Given the description of an element on the screen output the (x, y) to click on. 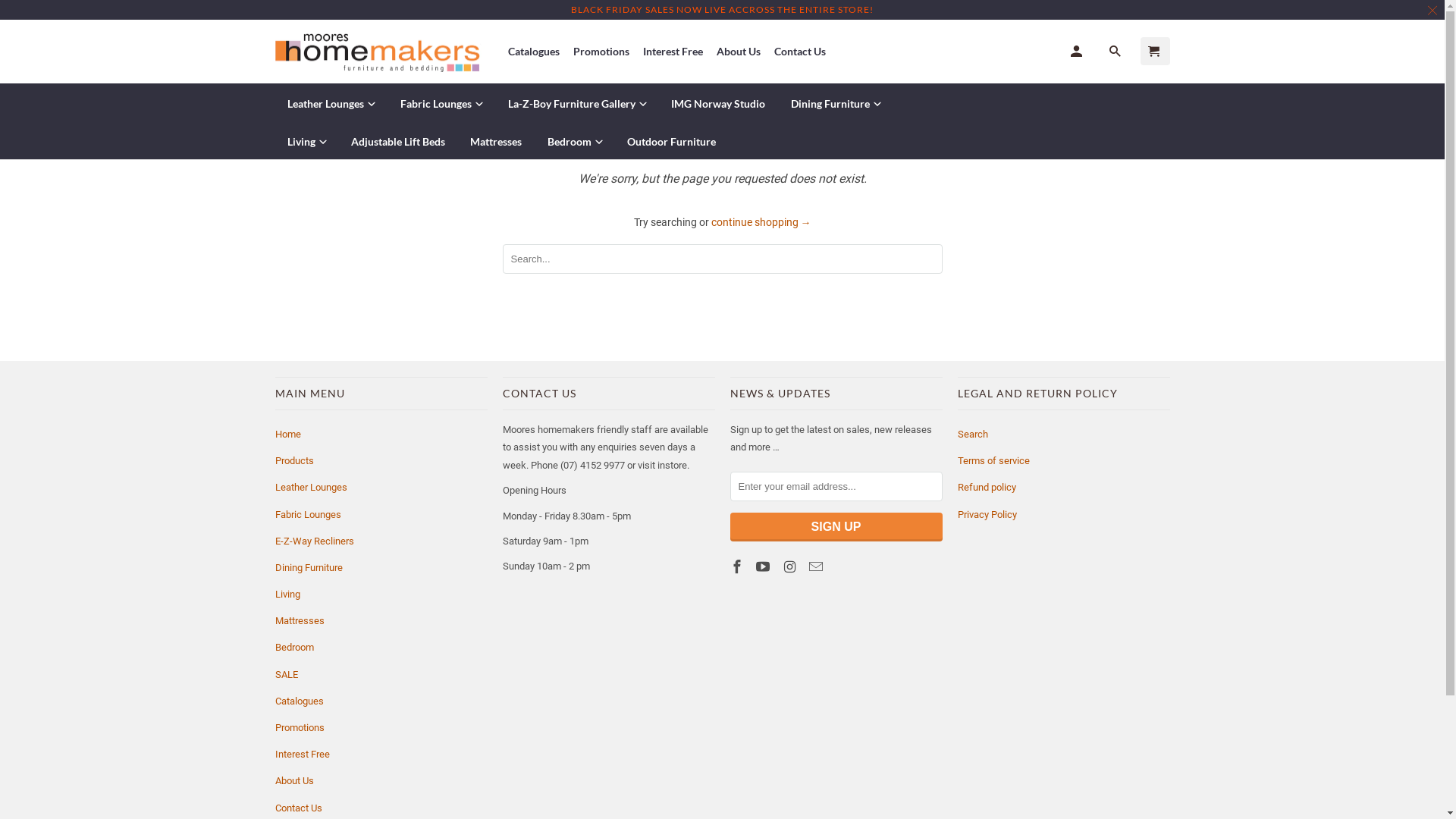
Products Element type: text (293, 460)
La-Z-Boy Furniture Gallery Element type: text (575, 102)
Adjustable Lift Beds Element type: text (397, 141)
About Us Element type: text (293, 780)
Dining Furniture Element type: text (835, 102)
Search Element type: text (972, 433)
Refund policy Element type: text (986, 486)
Outdoor Furniture Element type: text (670, 141)
About Us Element type: text (738, 51)
Leather Lounges Element type: text (310, 486)
Mattresses Element type: text (298, 620)
Fabric Lounges Element type: text (307, 513)
Dining Furniture Element type: text (308, 567)
Contact Us Element type: text (799, 51)
E-Z-Way Recliners Element type: text (313, 540)
Search Element type: hover (1115, 51)
Moores Homemakers on Facebook Element type: hover (737, 566)
Fabric Lounges Element type: text (439, 102)
Living Element type: text (306, 140)
Email Moores Homemakers Element type: hover (817, 566)
Bedroom Element type: text (573, 140)
BLACK FRIDAY SALES NOW LIVE ACCROSS THE ENTIRE STORE! Element type: text (722, 9)
Leather Lounges Element type: text (330, 102)
Interest Free Element type: text (672, 51)
Mattresses Element type: text (495, 141)
Living Element type: text (286, 593)
IMG Norway Studio Element type: text (717, 103)
Catalogues Element type: text (533, 51)
Home Element type: text (287, 433)
Contact Us Element type: text (297, 807)
Catalogues Element type: text (298, 700)
Bedroom Element type: text (293, 646)
Interest Free Element type: text (301, 753)
Promotions Element type: text (298, 727)
Moores Homemakers on YouTube Element type: hover (764, 566)
Promotions Element type: text (601, 51)
SALE Element type: text (285, 674)
Moores Homemakers Element type: hover (380, 51)
Terms of service Element type: text (993, 460)
My Account  Element type: hover (1077, 51)
Moores Homemakers on Instagram Element type: hover (790, 566)
Sign Up Element type: text (835, 526)
Privacy Policy Element type: text (986, 513)
